Given the description of an element on the screen output the (x, y) to click on. 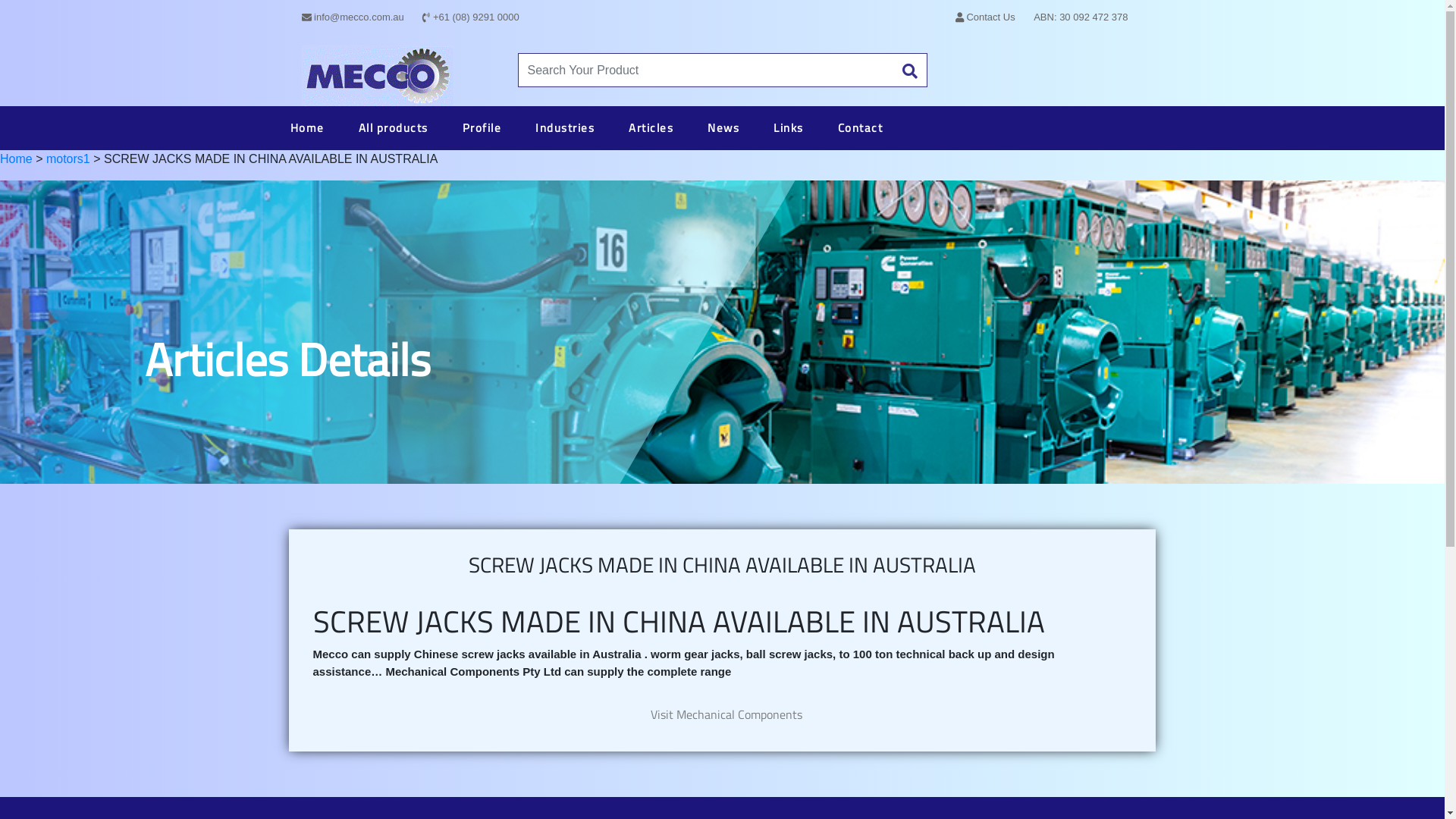
Industries Element type: text (564, 127)
+61 (08) 9291 0000 Element type: text (470, 16)
Links Element type: text (788, 127)
All products Element type: text (392, 127)
Visit Mechanical Components Element type: text (726, 714)
Contact Us Element type: text (985, 16)
Home Element type: text (306, 127)
Profile Element type: text (482, 127)
Home Element type: text (16, 158)
info@mecco.com.au Element type: text (352, 16)
Contact Element type: text (859, 127)
motors1 Element type: text (68, 158)
Articles Element type: text (650, 127)
News Element type: text (723, 127)
